Given the description of an element on the screen output the (x, y) to click on. 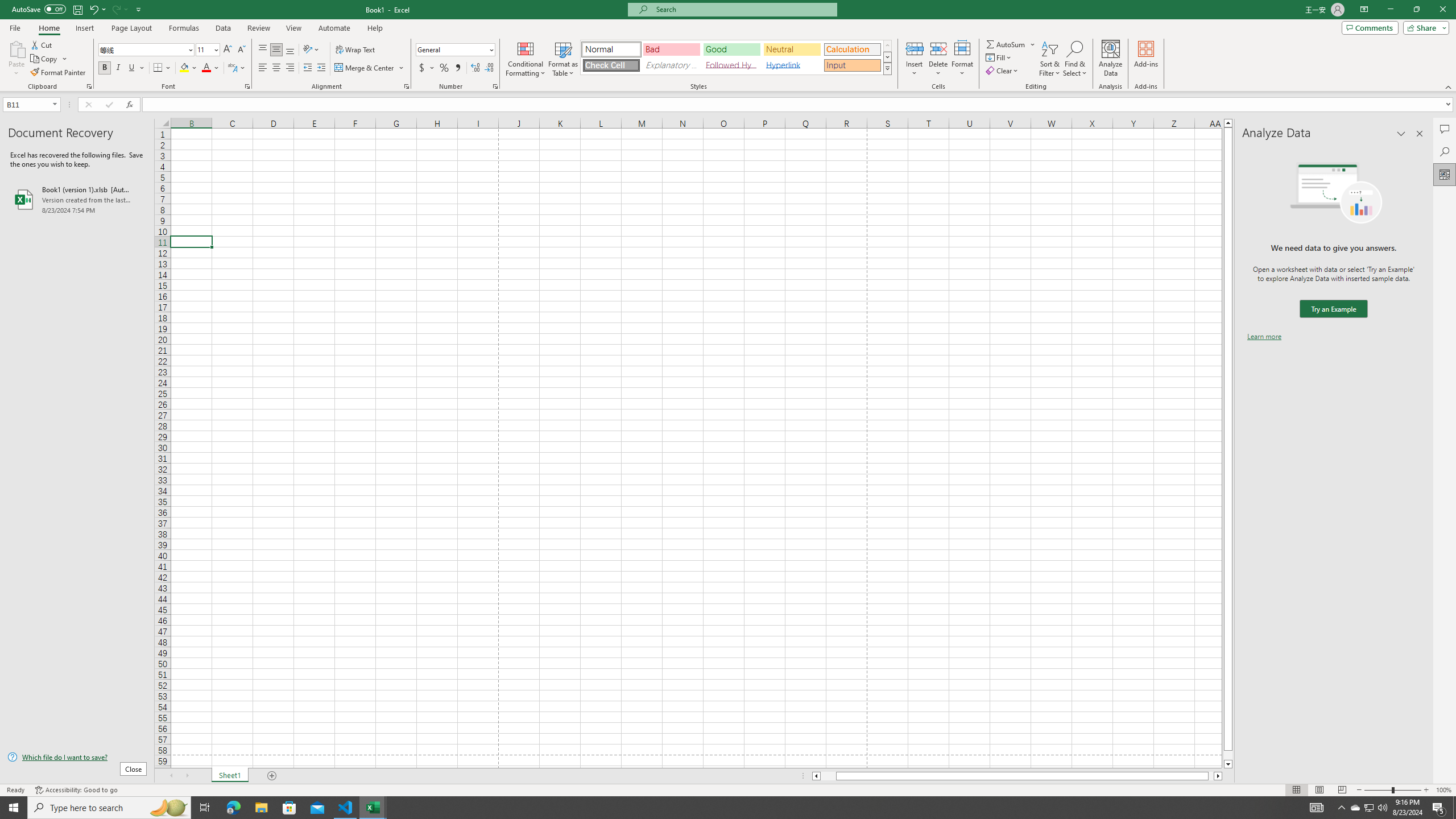
Align Right (290, 67)
Format Cell Font (247, 85)
Hyperlink (791, 65)
Followed Hyperlink (731, 65)
Sum (1006, 44)
Percent Style (443, 67)
Cell Styles (887, 68)
Merge & Center (369, 67)
Number Format (455, 49)
Format as Table (563, 58)
Decrease Font Size (240, 49)
Number Format (451, 49)
